Given the description of an element on the screen output the (x, y) to click on. 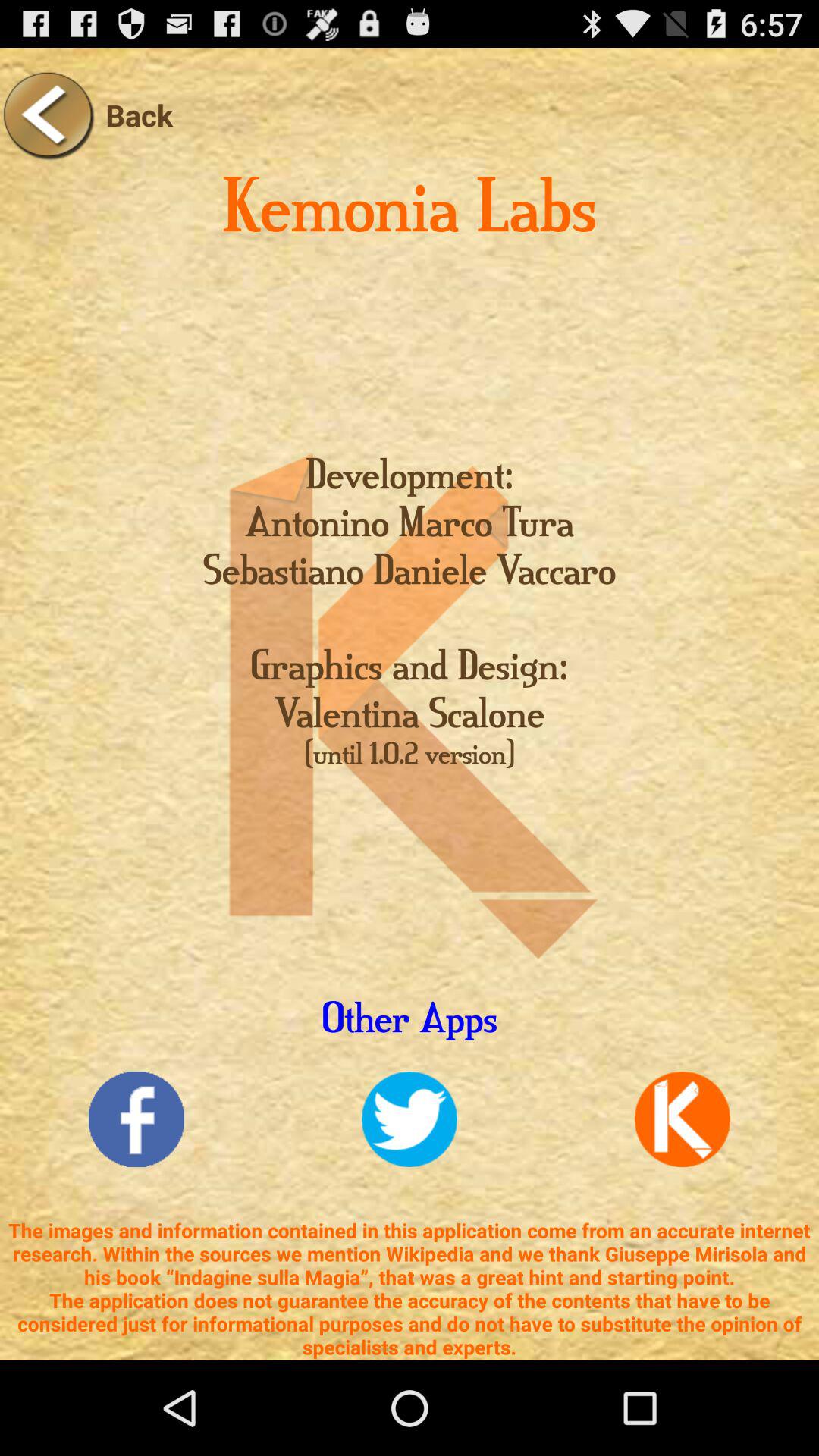
switch to facebook option (136, 1119)
